Given the description of an element on the screen output the (x, y) to click on. 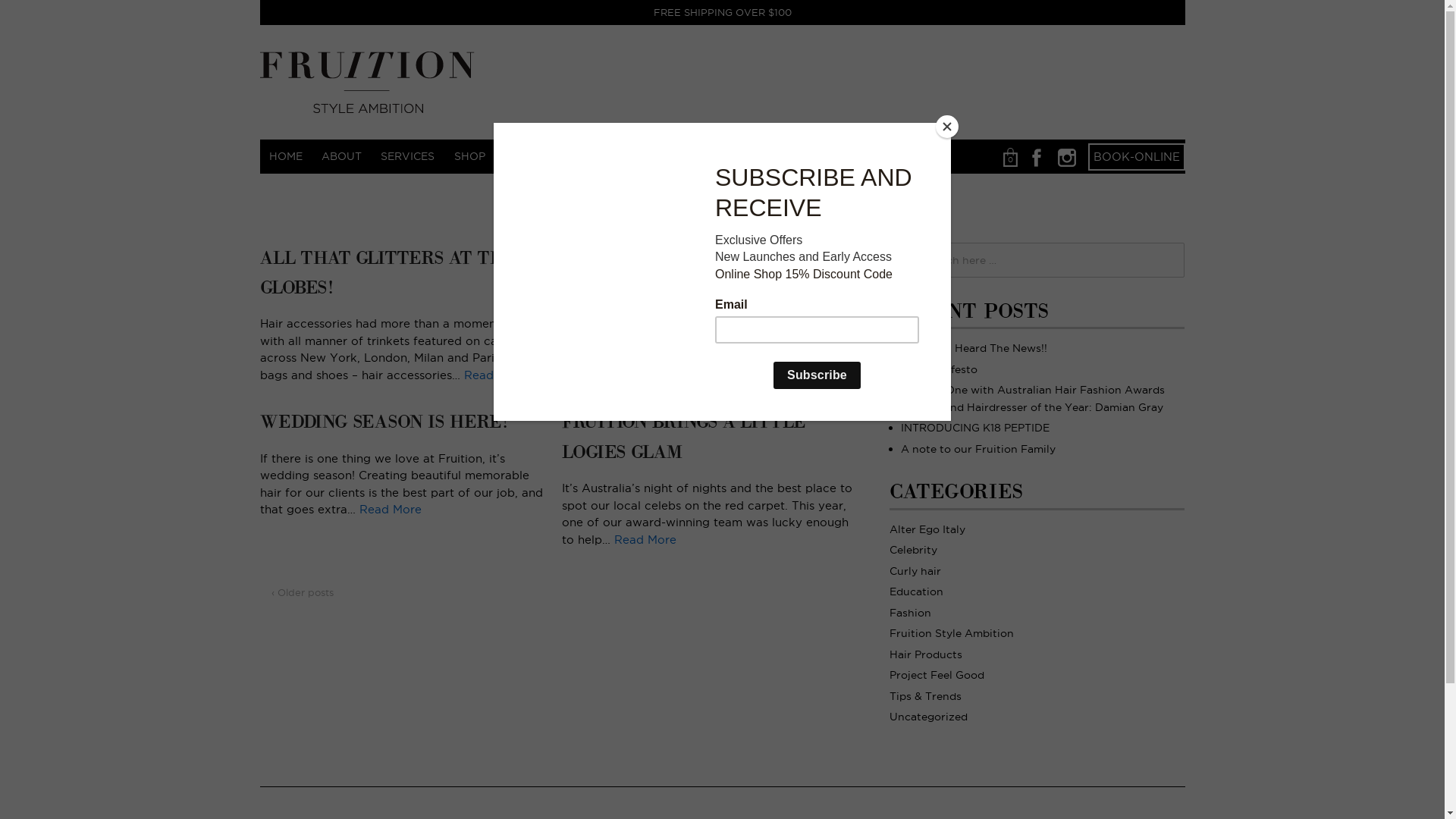
A note to our Fruition Family Element type: text (977, 448)
FREE SHIPPING OVER $100 Element type: text (721, 12)
ALL THAT GLITTERS AT THE GLOBES! Element type: text (387, 272)
BOOK-ONLINE Element type: text (1136, 156)
SERVICES Element type: text (407, 156)
Celebrity Element type: text (913, 549)
Fruition Style Ambition Element type: text (951, 633)
FRUITION BRINGS A LITTLE LOGIES GLAM Element type: text (683, 436)
PRODUCTS Element type: text (534, 156)
CONTACT Element type: text (734, 156)
Hair Products Element type: text (925, 653)
0 Element type: text (1009, 156)
ABOUT Element type: text (341, 156)
Read More Element type: text (773, 374)
GALLERY Element type: text (610, 156)
Read More Element type: text (645, 538)
Alter Ego Italy Element type: text (927, 529)
Have You Heard The News!! Element type: text (973, 348)
BLOG Element type: text (671, 156)
WEDDING SEASON IS HERE! Element type: text (383, 421)
ACCOLADES Element type: text (815, 156)
LOCATIONS Element type: text (901, 156)
Read More Element type: text (495, 374)
Fashion Element type: text (910, 612)
Read More Element type: text (390, 508)
INTRODUCING K18 PEPTIDE Element type: text (974, 427)
FRUITION RED CARPET EDIT: GOVERNORS BALL Element type: text (692, 272)
Uncategorized Element type: text (928, 716)
Curly hair Element type: text (915, 570)
CAREERS Element type: text (294, 189)
Project Feel Good Element type: text (936, 674)
Curl Manifesto Element type: text (938, 368)
Tips & Trends Element type: text (925, 696)
Education Element type: text (916, 591)
HOME Element type: text (285, 156)
SHOP Element type: text (469, 156)
Go Element type: text (33, 15)
